Given the description of an element on the screen output the (x, y) to click on. 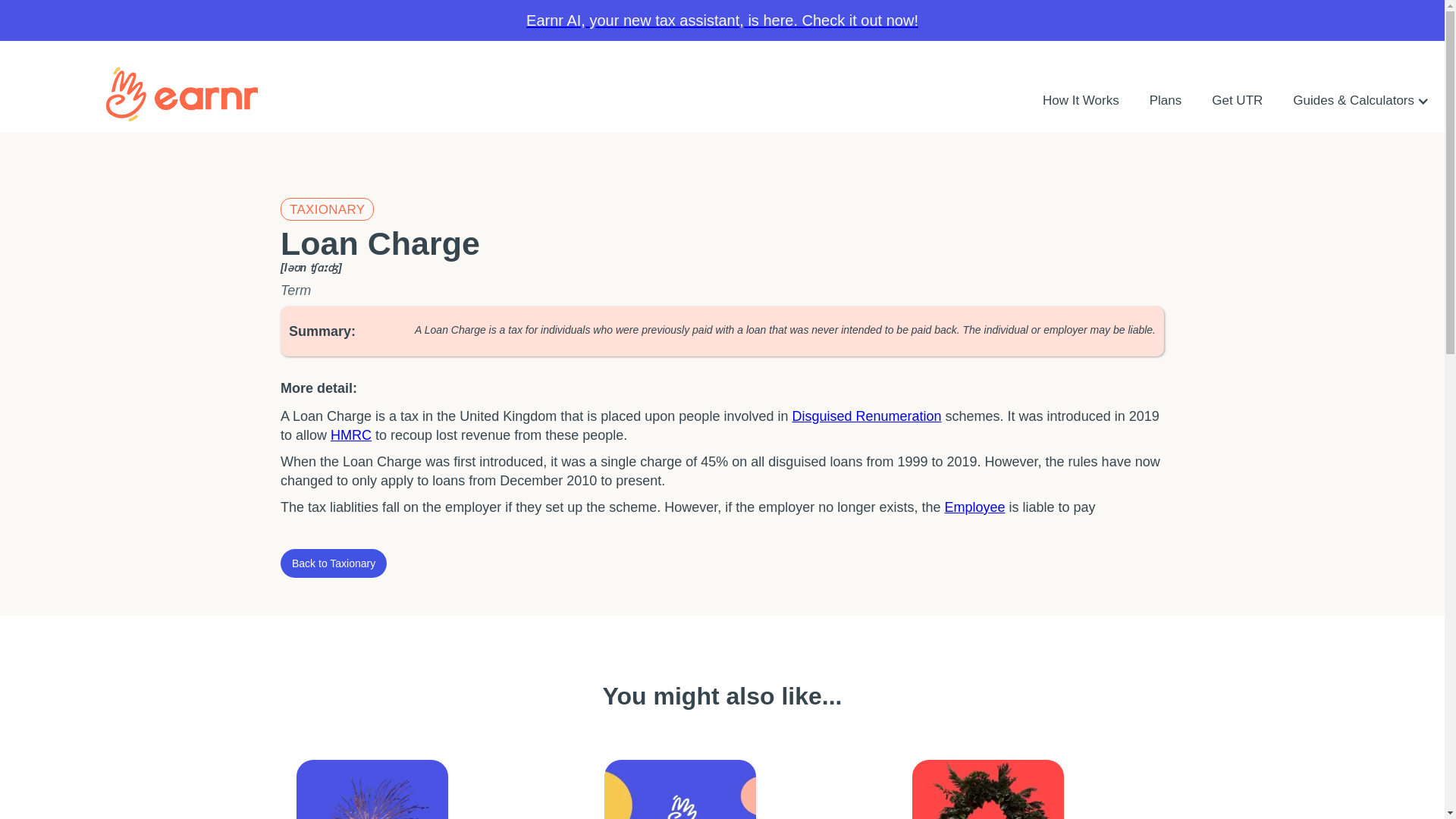
Get UTR (1237, 100)
TAXIONARY (327, 209)
Earnr AI, your new tax assistant, is here. Check it out now! (721, 20)
Back to Taxionary (334, 563)
Employee (973, 507)
How It Works (1080, 100)
Plans (1165, 100)
Disguised Renumeration (866, 416)
HMRC (350, 435)
